Given the description of an element on the screen output the (x, y) to click on. 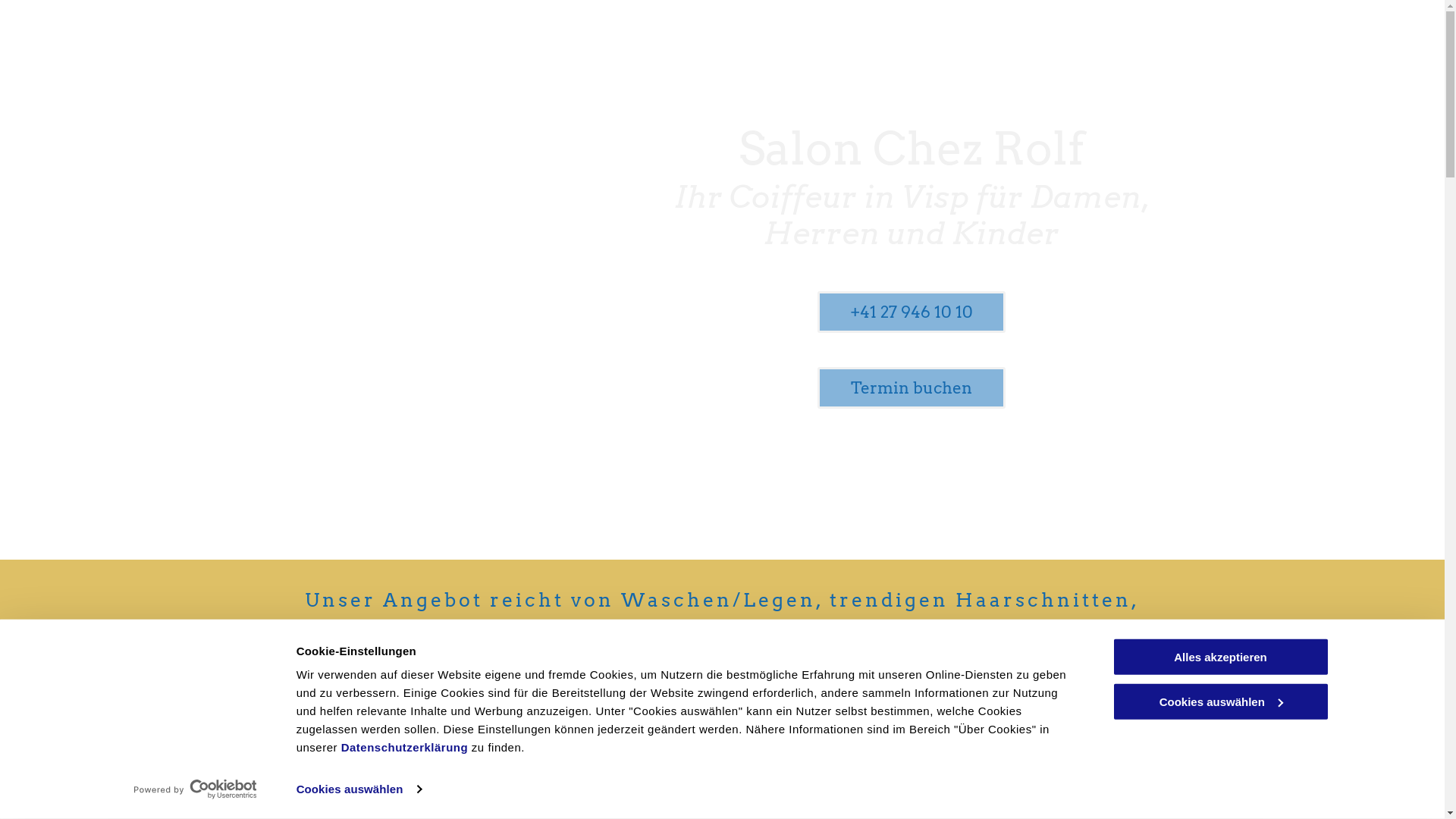
Alles akzeptieren Element type: text (1219, 656)
+41 27 946 10 10 Element type: text (911, 311)
Termin buchen Element type: text (911, 387)
